Given the description of an element on the screen output the (x, y) to click on. 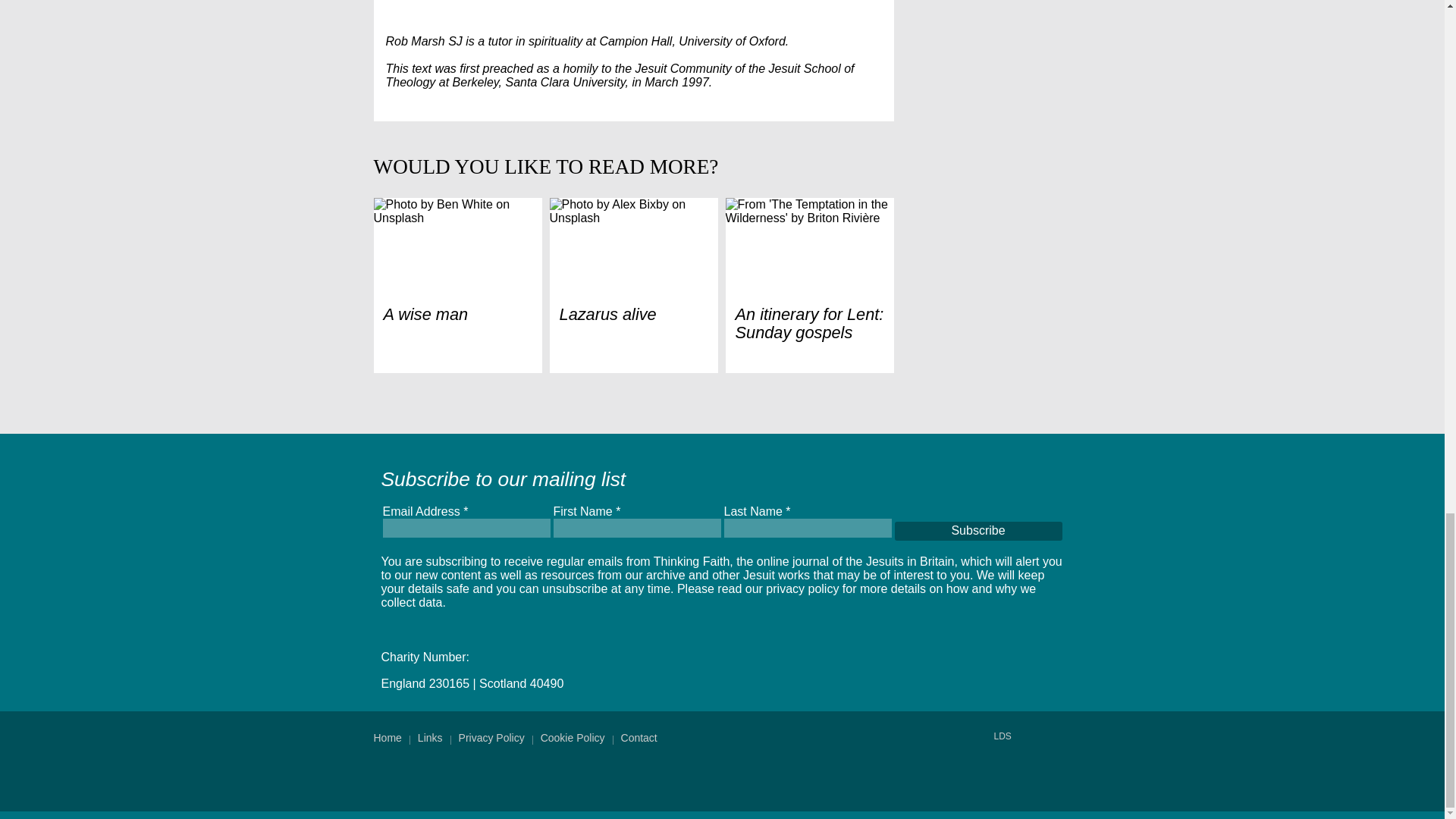
Subscribe (978, 530)
